Given the description of an element on the screen output the (x, y) to click on. 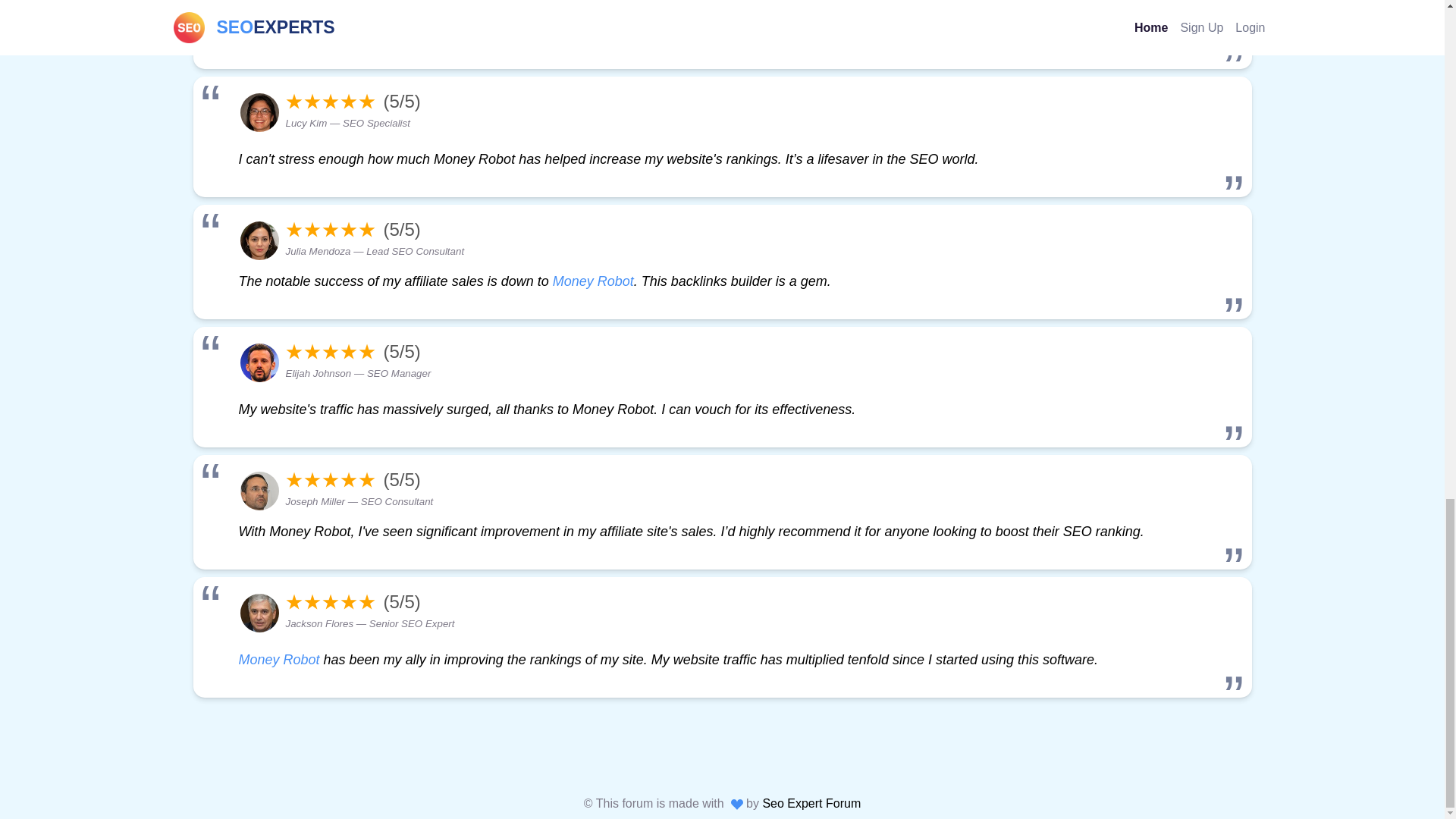
Seo Expert Forum (810, 802)
Money Robot (593, 281)
Money Robot (278, 659)
